Given the description of an element on the screen output the (x, y) to click on. 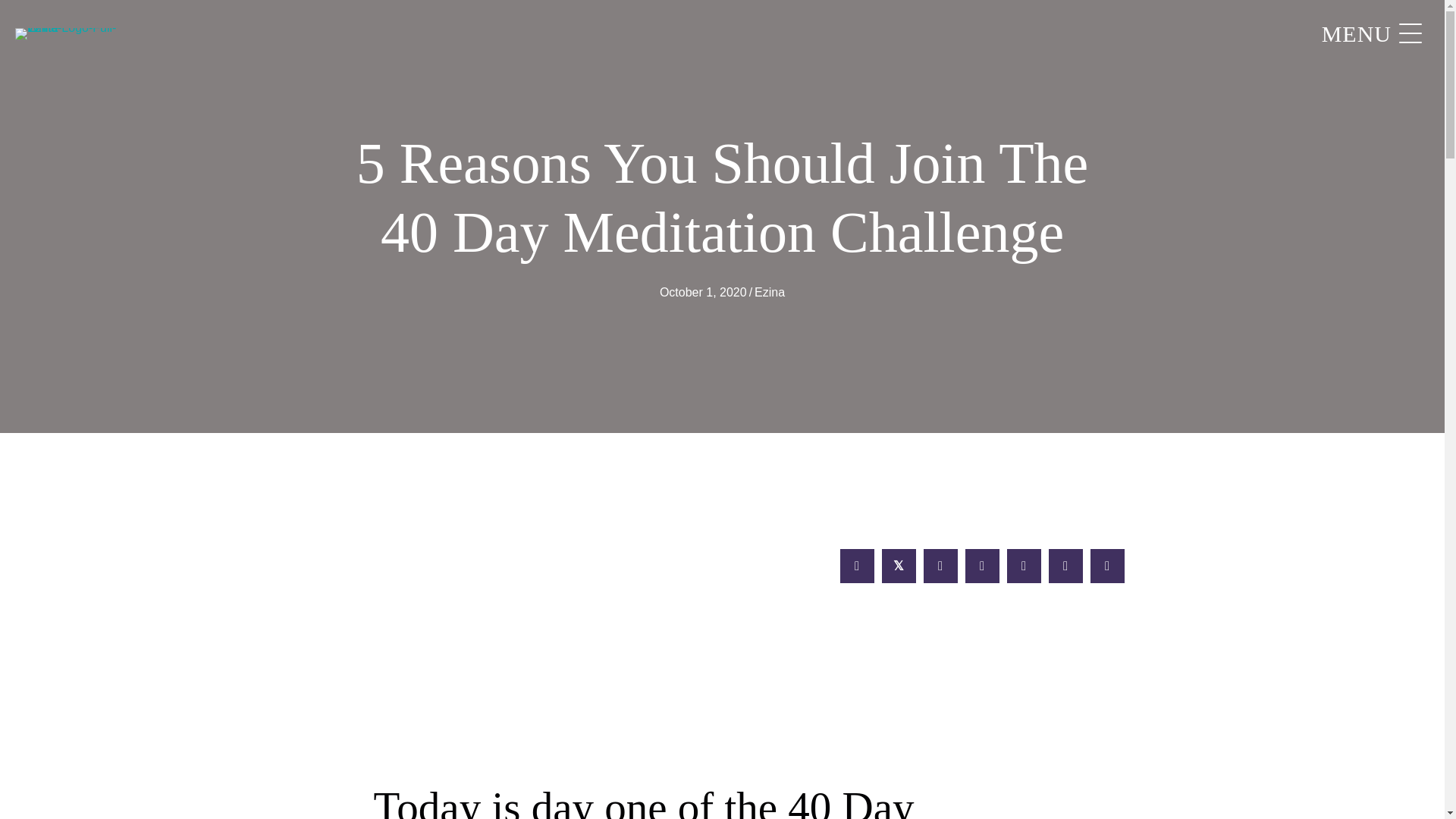
Ezina-Logo-Full-White (71, 33)
Ezina (769, 291)
MENU (1367, 34)
